Given the description of an element on the screen output the (x, y) to click on. 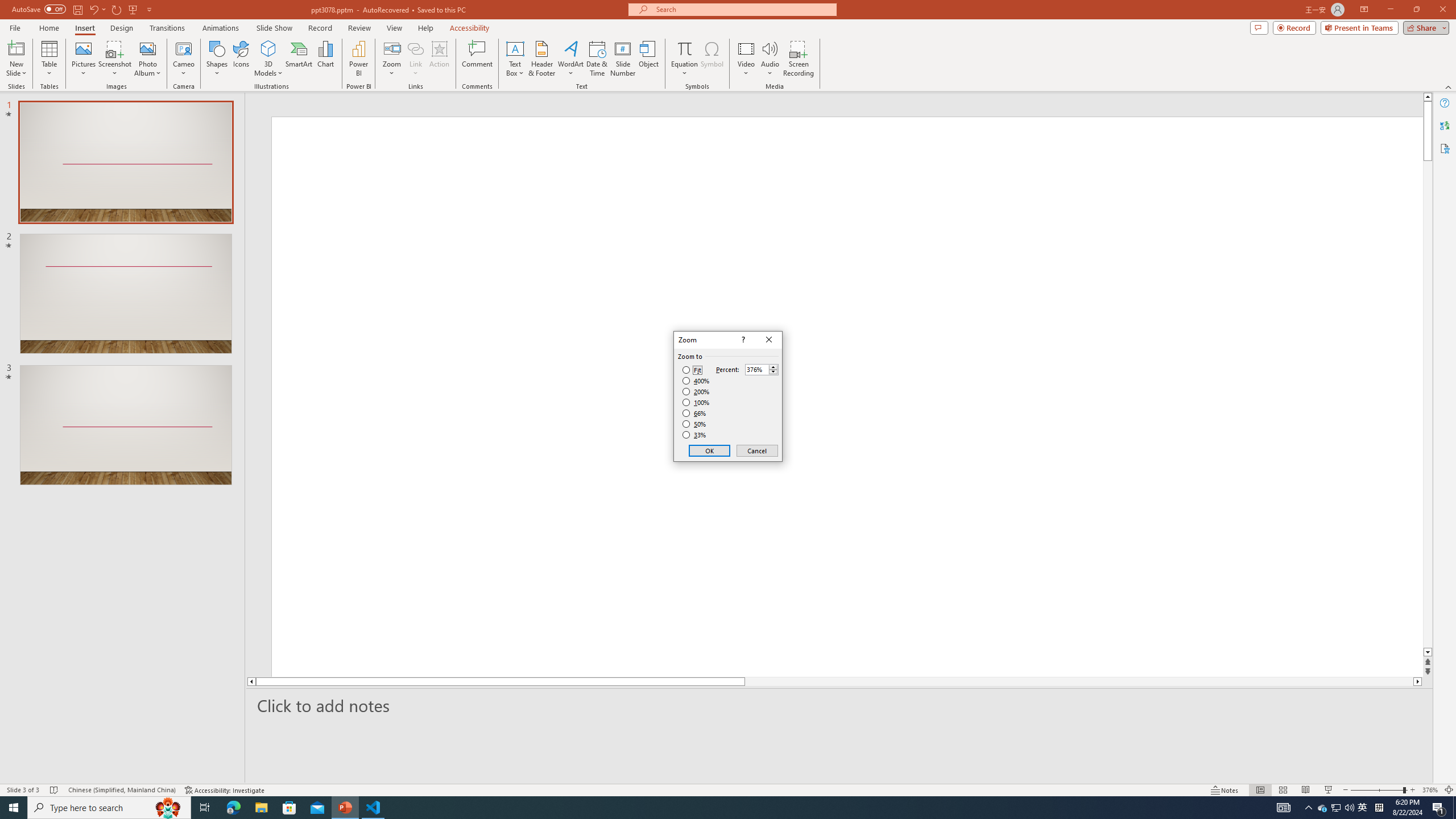
Action (439, 58)
Screenshot (114, 58)
Header & Footer... (541, 58)
Chart... (325, 58)
